Given the description of an element on the screen output the (x, y) to click on. 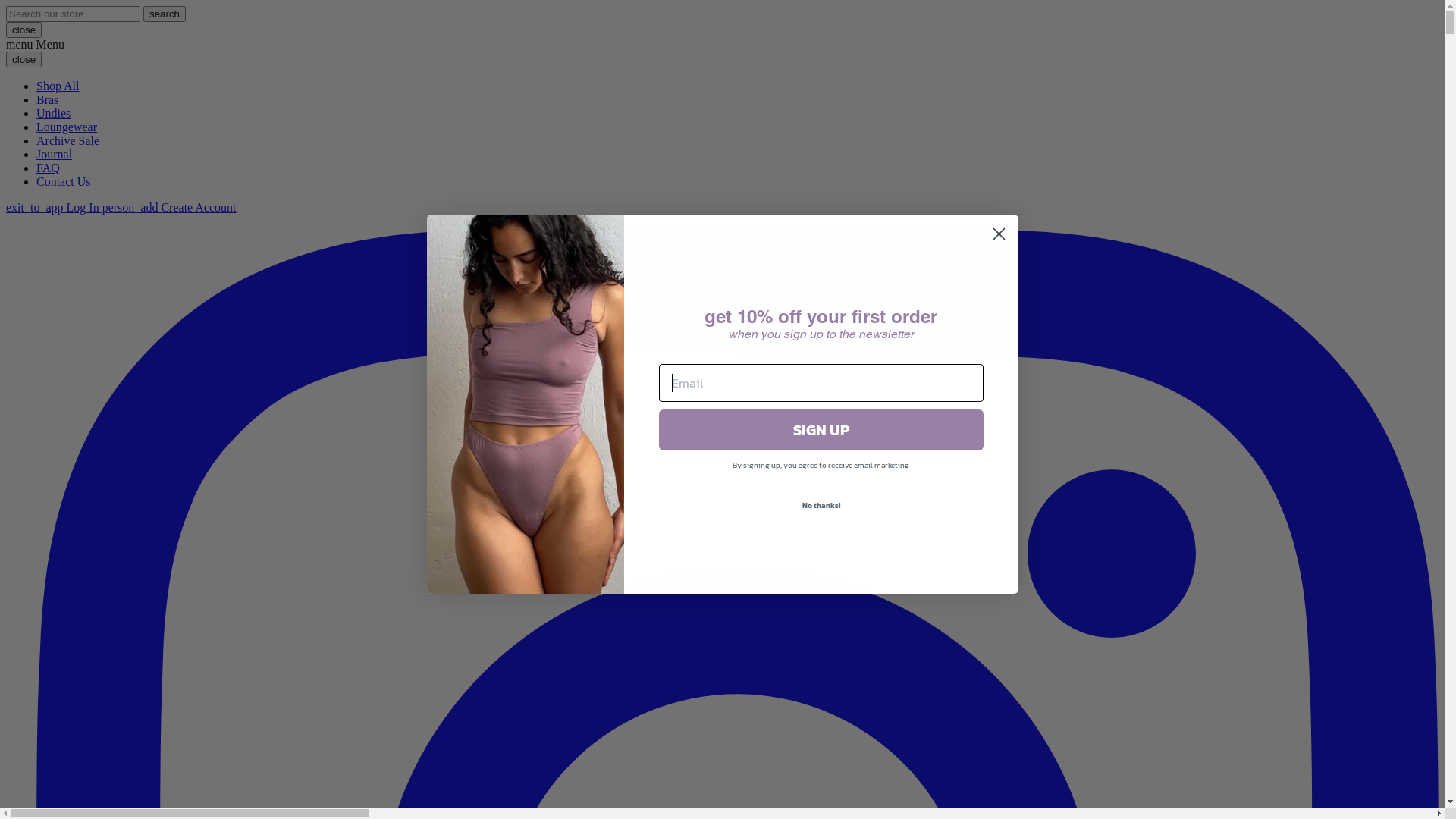
Bras Element type: text (47, 99)
Journal Element type: text (54, 153)
Submit Element type: text (21, 7)
Loungewear Element type: text (66, 126)
Shop All Element type: text (57, 85)
Archive Sale Element type: text (67, 140)
close Element type: text (23, 29)
SIGN UP Element type: text (820, 429)
search Element type: text (164, 13)
exit_to_app Log In Element type: text (54, 206)
Contact Us Element type: text (63, 181)
person_add Create Account Element type: text (169, 206)
close Element type: text (23, 59)
No thanks! Element type: text (820, 504)
Close dialog 1 Element type: text (998, 232)
Undies Element type: text (53, 112)
FAQ Element type: text (47, 167)
